Given the description of an element on the screen output the (x, y) to click on. 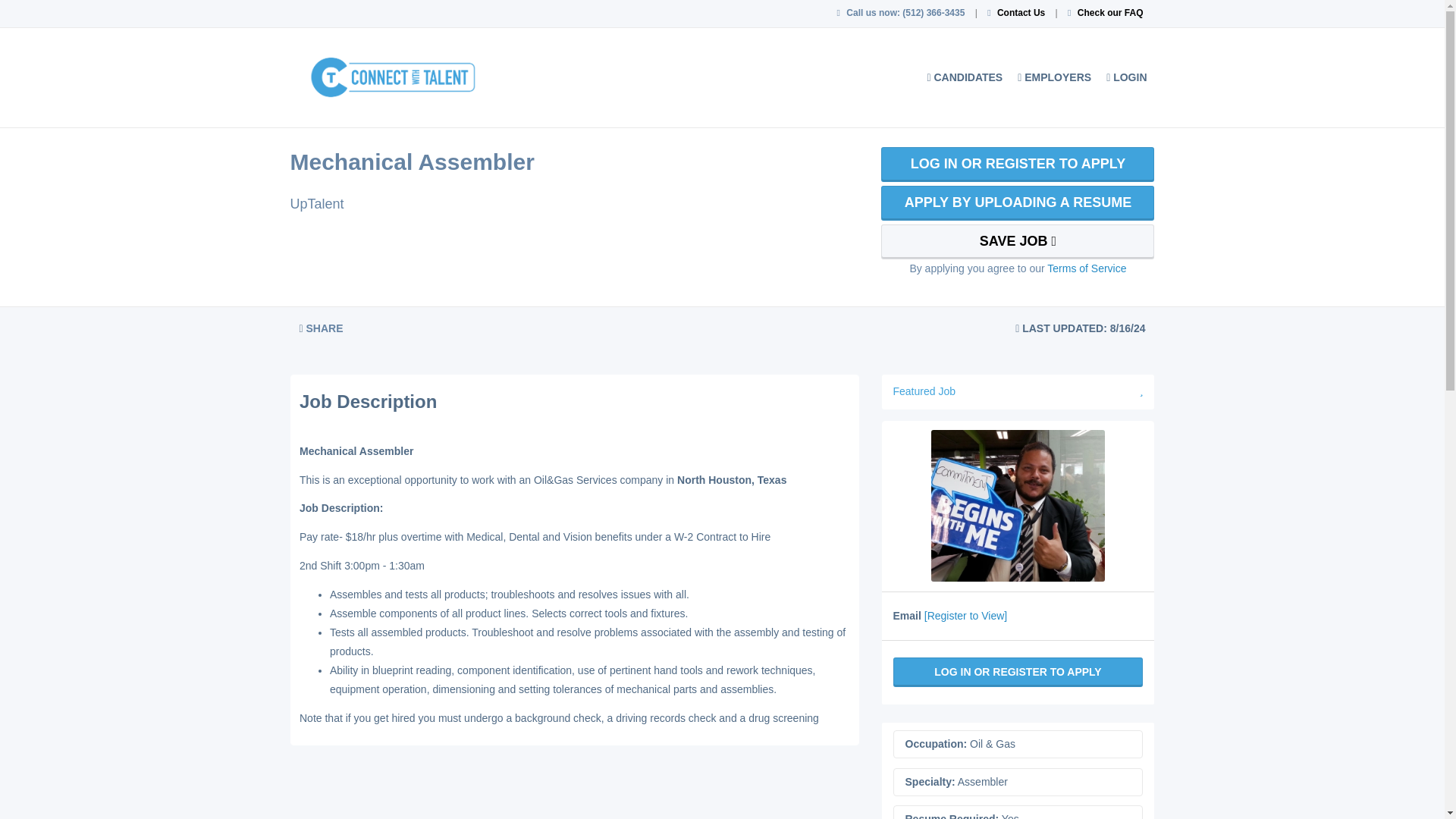
SAVE JOB (1017, 241)
Contact Us (1021, 12)
Terms of Service (1085, 268)
EMPLOYERS (1054, 77)
SHARE (320, 328)
APPLY BY UPLOADING A RESUME (1017, 202)
CANDIDATES (964, 77)
Check our FAQ (1109, 12)
LOG IN OR REGISTER TO APPLY (1017, 672)
LOG IN OR REGISTER TO APPLY (1017, 164)
